Given the description of an element on the screen output the (x, y) to click on. 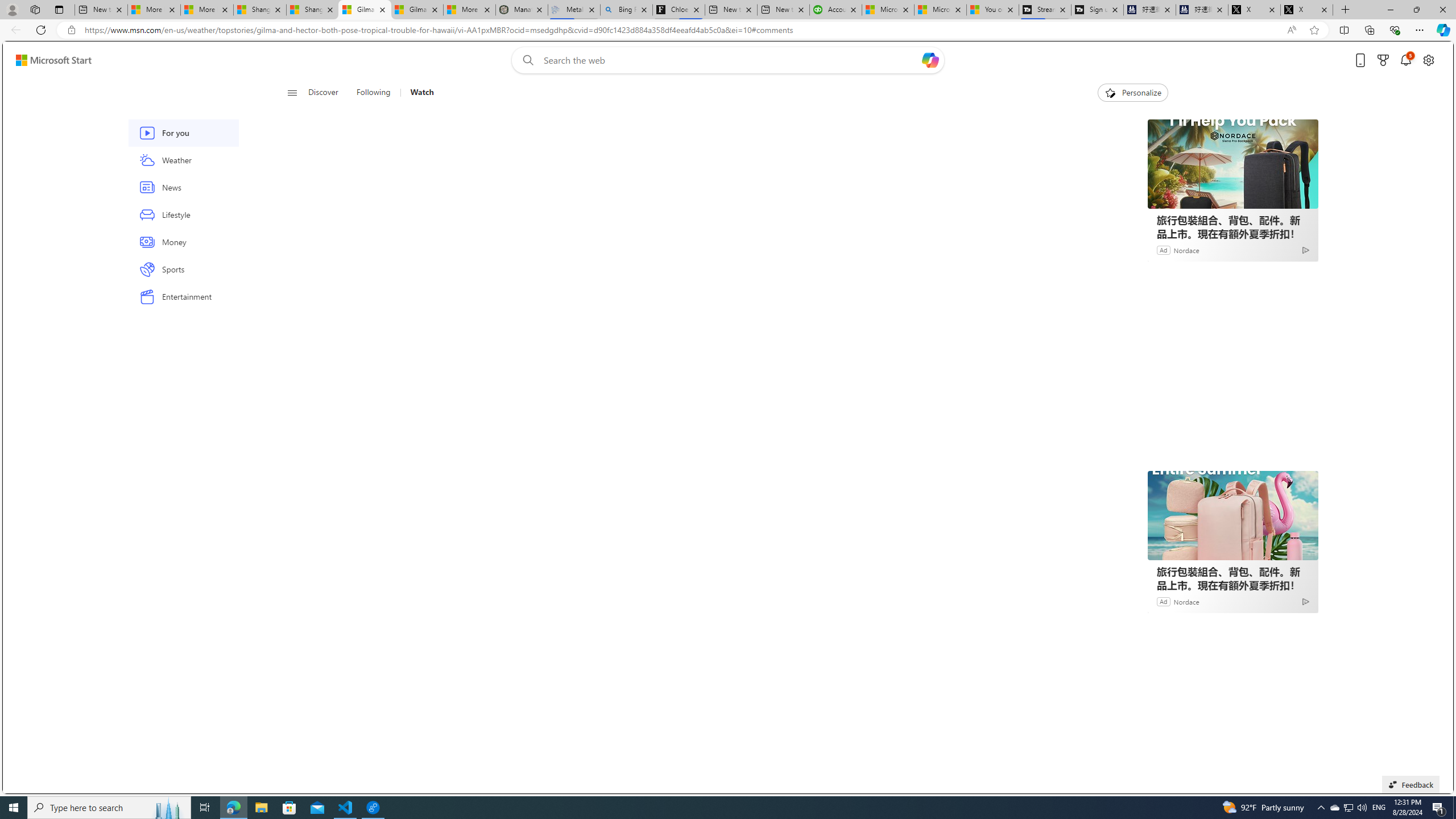
Accounting Software for Accountants, CPAs and Bookkeepers (835, 9)
